Given the description of an element on the screen output the (x, y) to click on. 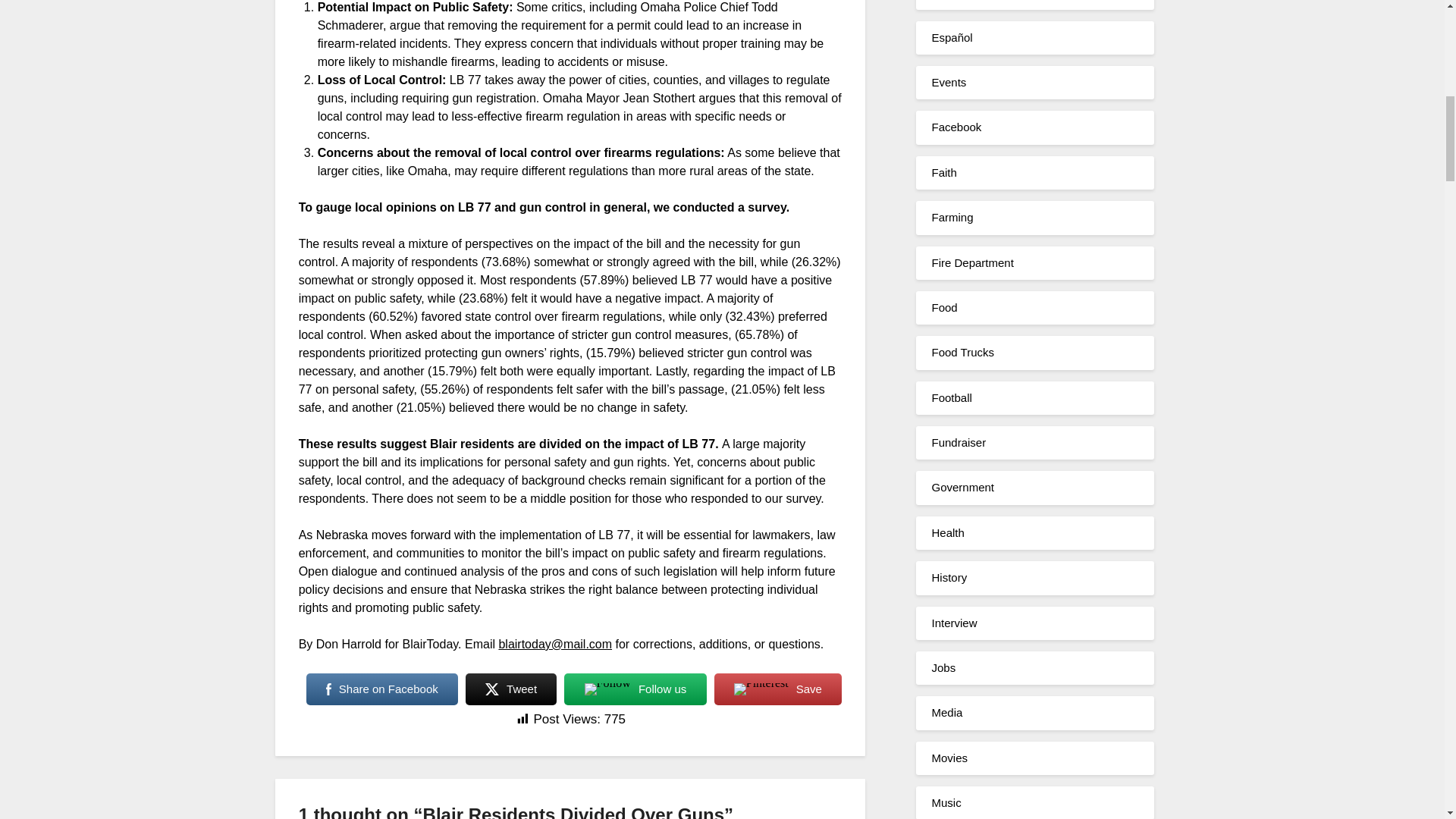
Fire Department (972, 262)
Share on Facebook (381, 688)
Save (778, 688)
Follow us (635, 688)
Tweet (510, 688)
Food (943, 307)
Events (948, 82)
Facebook (956, 126)
Faith (943, 172)
Farming (951, 216)
